Given the description of an element on the screen output the (x, y) to click on. 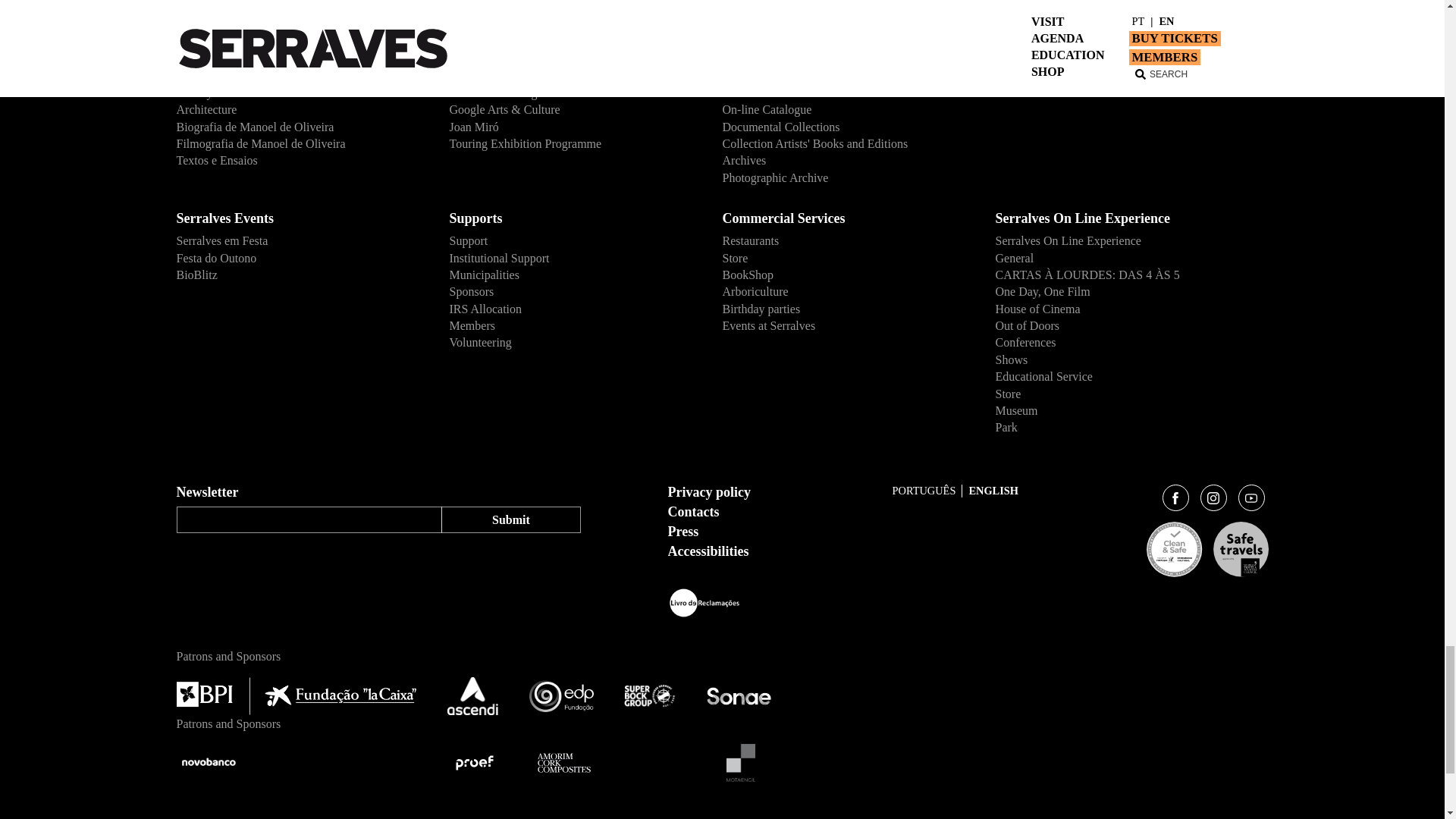
Submit (510, 519)
Community Cofinancing and Financing (300, 12)
Environmental Certification (300, 2)
